Given the description of an element on the screen output the (x, y) to click on. 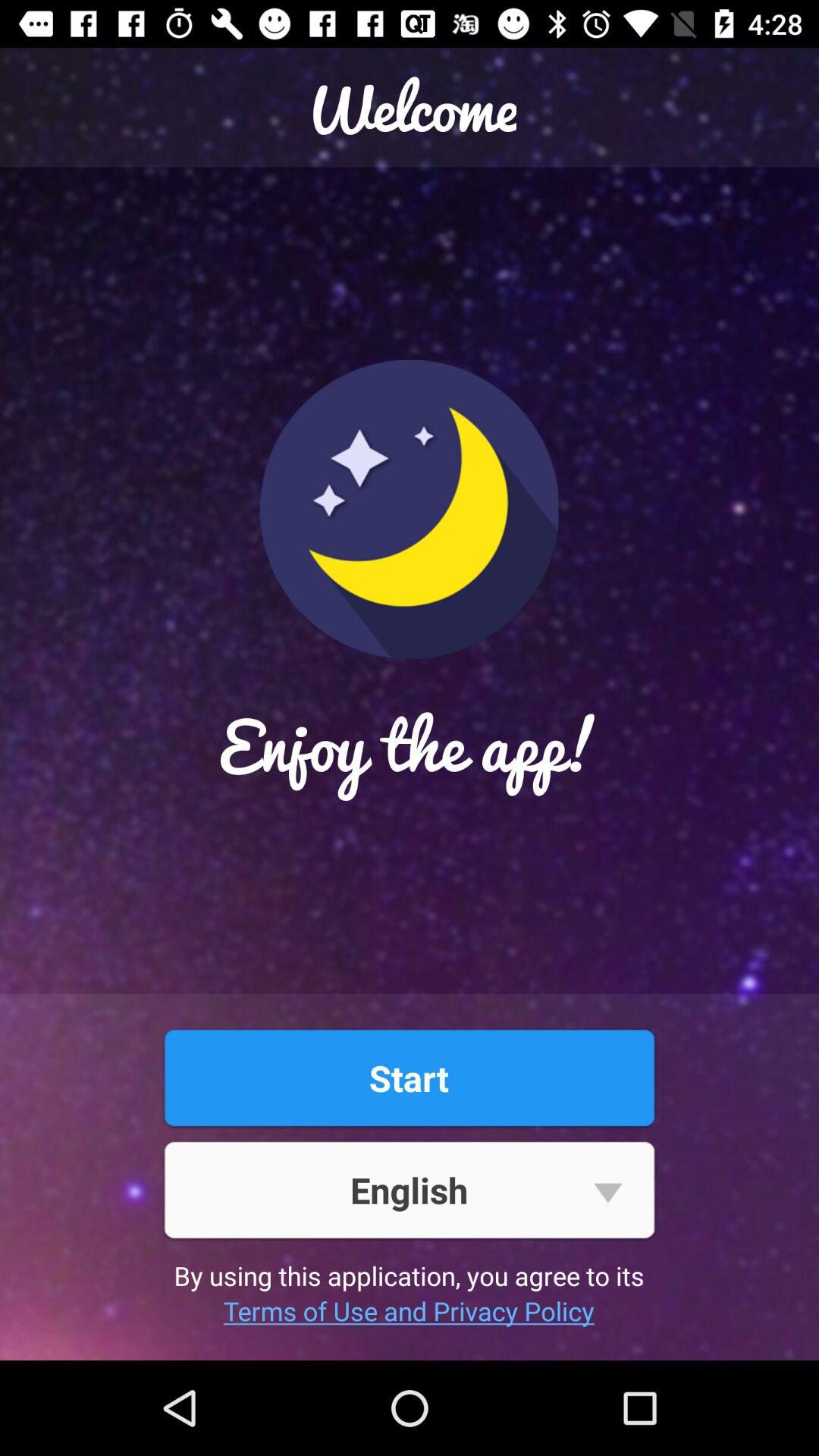
launch icon above the english button (409, 1078)
